Given the description of an element on the screen output the (x, y) to click on. 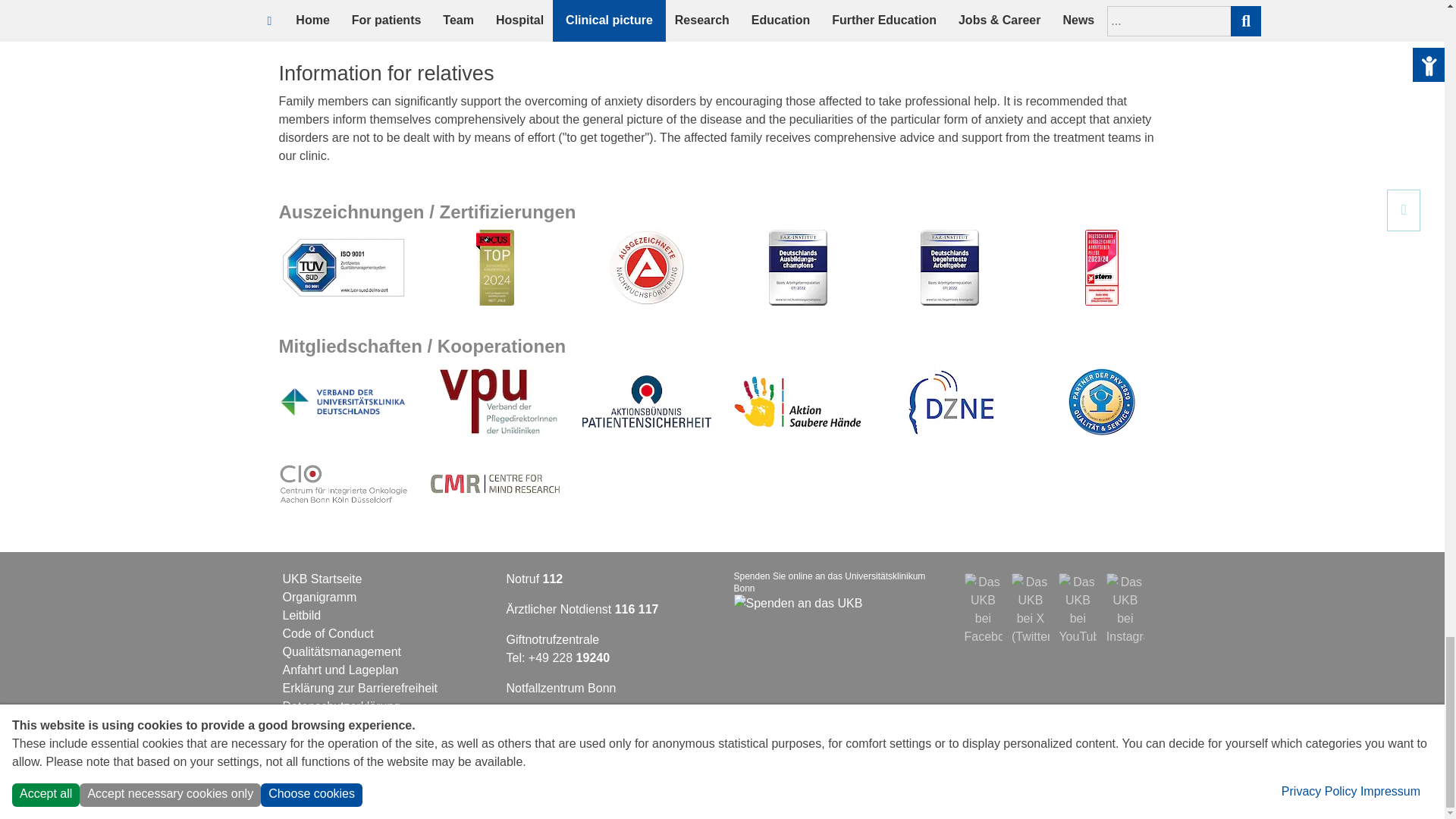
Das UKB bei Instagram (1125, 591)
Das UKB bei YouTube (1077, 591)
Das UKB bei Facebook (983, 591)
Spenden an das UKB (798, 603)
